Given the description of an element on the screen output the (x, y) to click on. 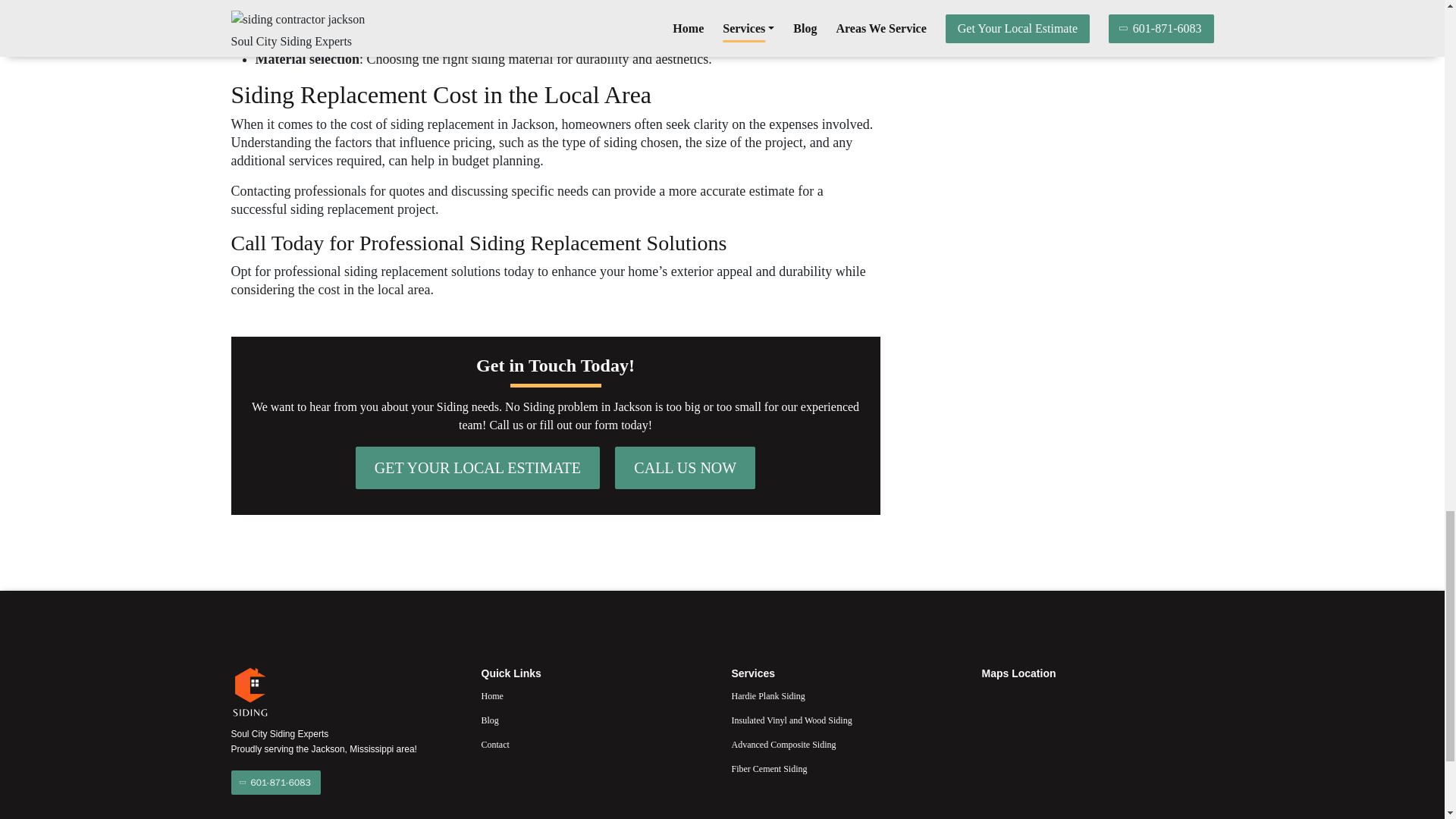
Advanced Composite Siding (846, 744)
Contact (596, 744)
Insulated Vinyl and Wood Siding (846, 720)
Hardie Plank Siding (846, 696)
Fiber Cement Siding (846, 769)
Home (596, 696)
GET YOUR LOCAL ESTIMATE (477, 467)
CALL US NOW (684, 467)
601-871-6083 (275, 782)
Blog (596, 720)
